Given the description of an element on the screen output the (x, y) to click on. 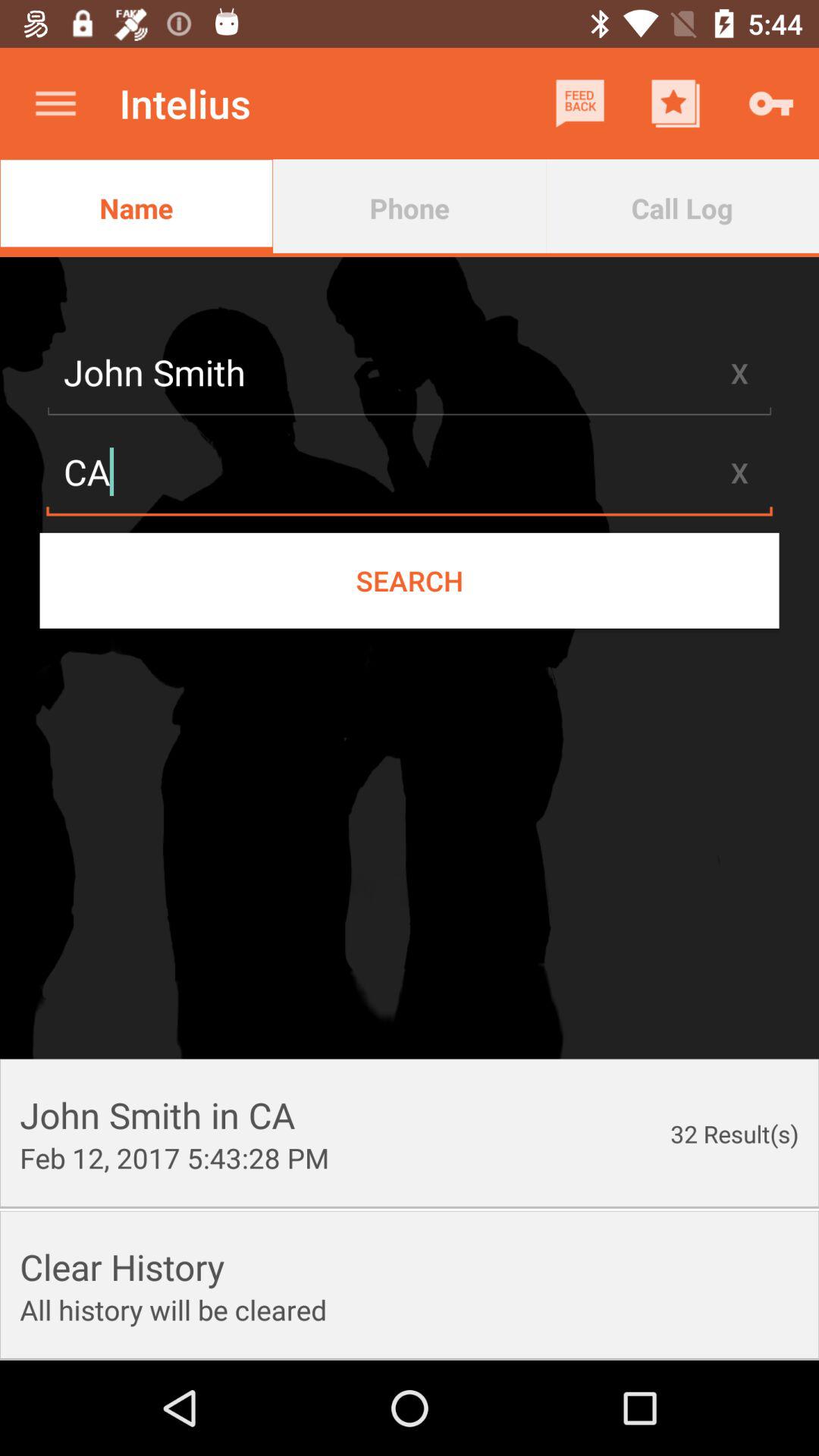
open item below the ca item (409, 580)
